Given the description of an element on the screen output the (x, y) to click on. 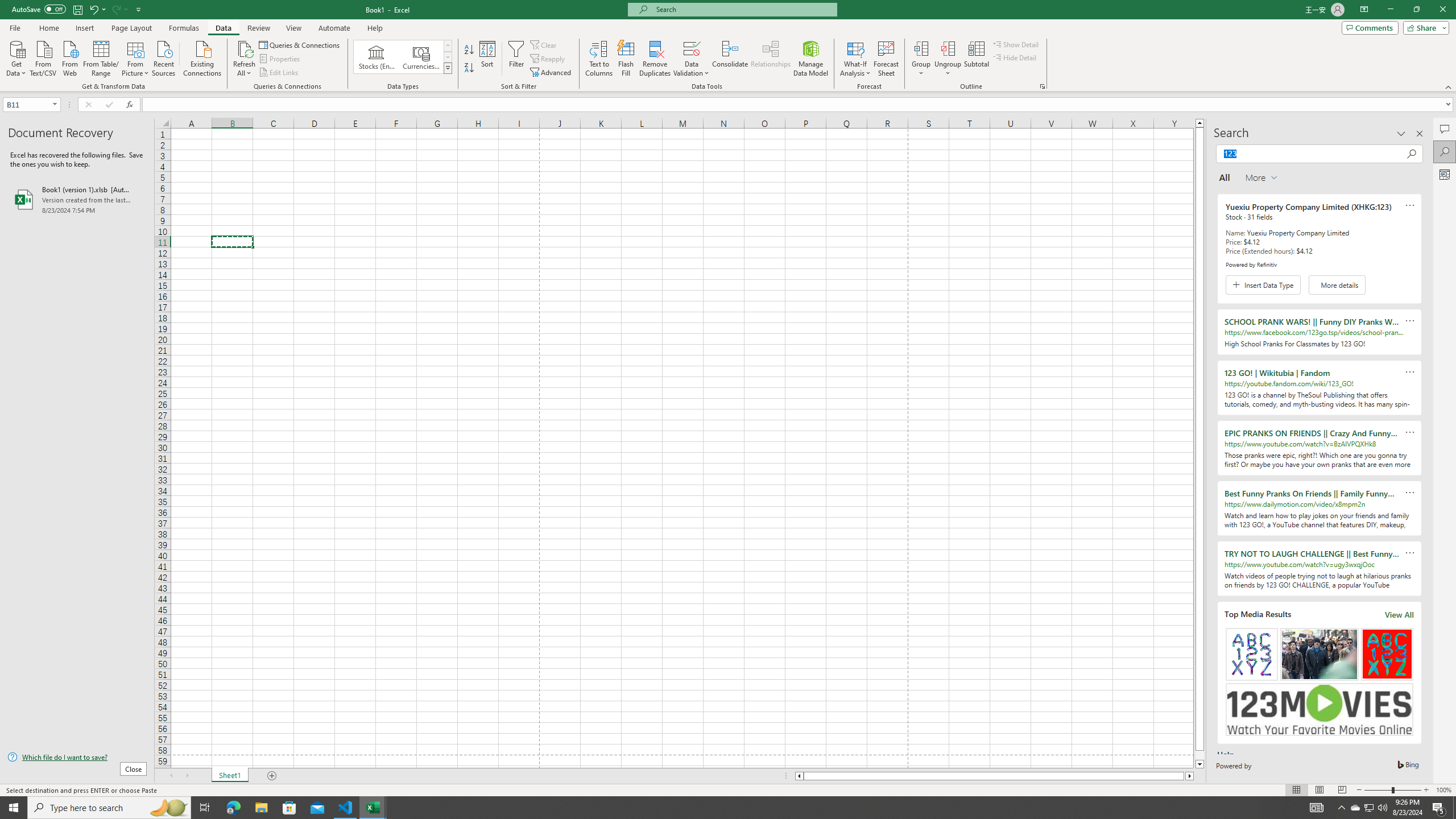
Consolidate... (729, 58)
